Given the description of an element on the screen output the (x, y) to click on. 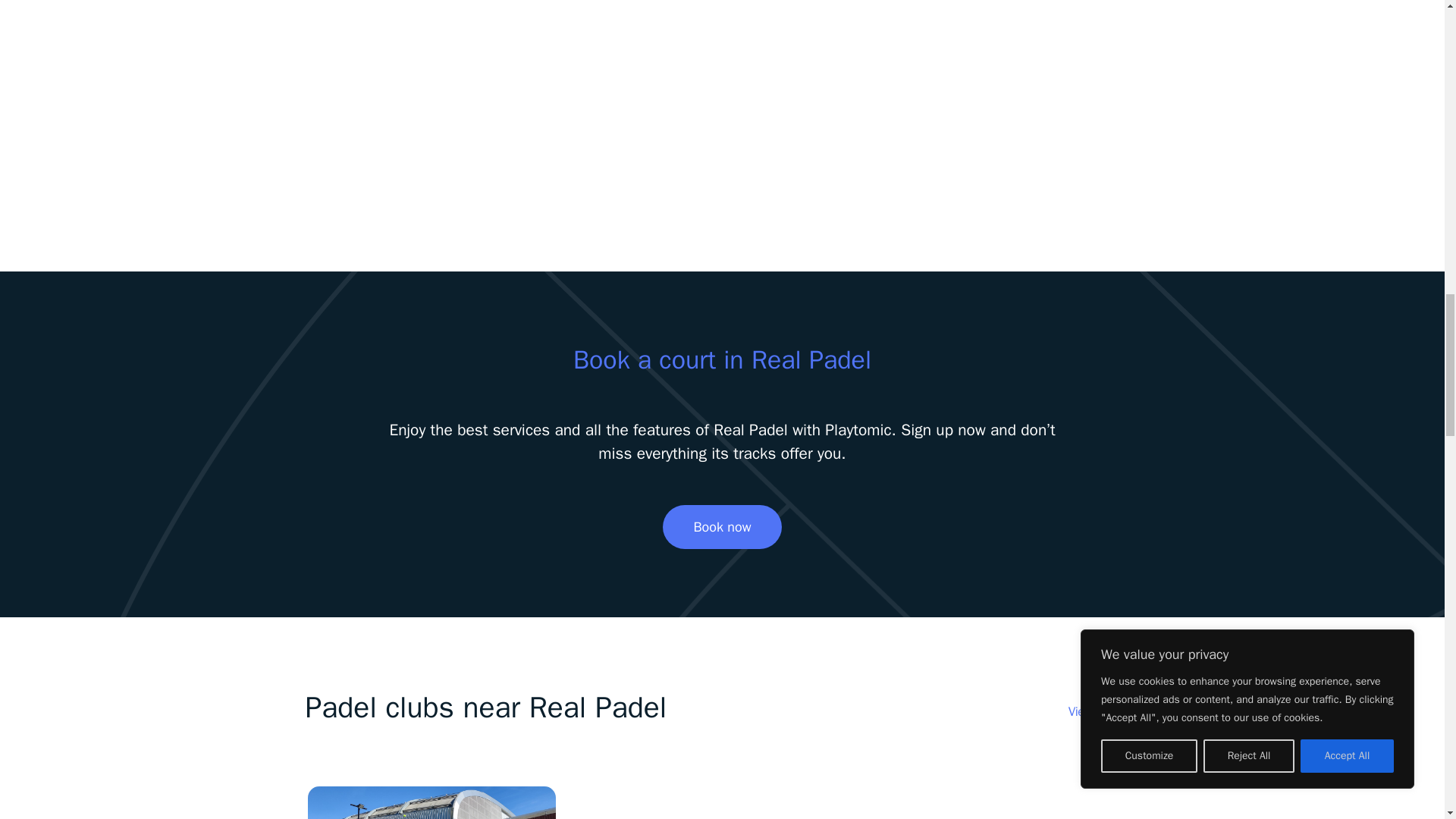
View all clubs (1104, 711)
Book now (721, 526)
